Given the description of an element on the screen output the (x, y) to click on. 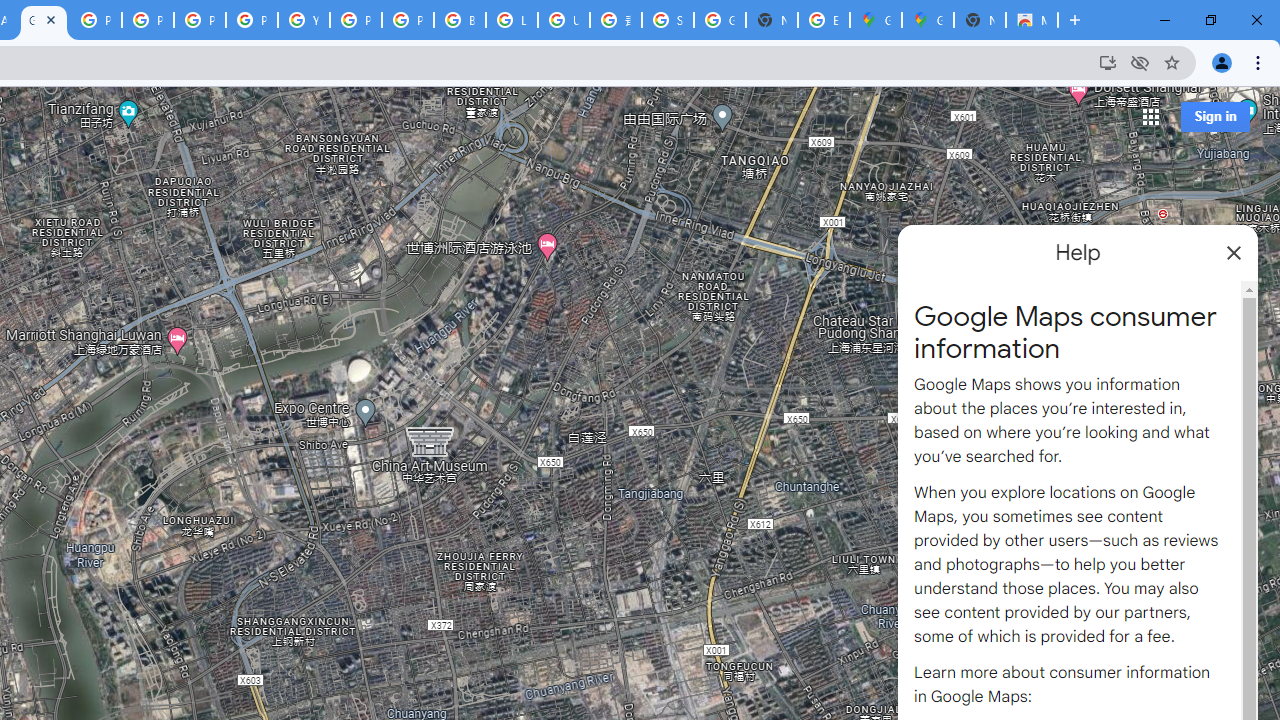
Privacy Help Center - Policies Help (200, 20)
